Given the description of an element on the screen output the (x, y) to click on. 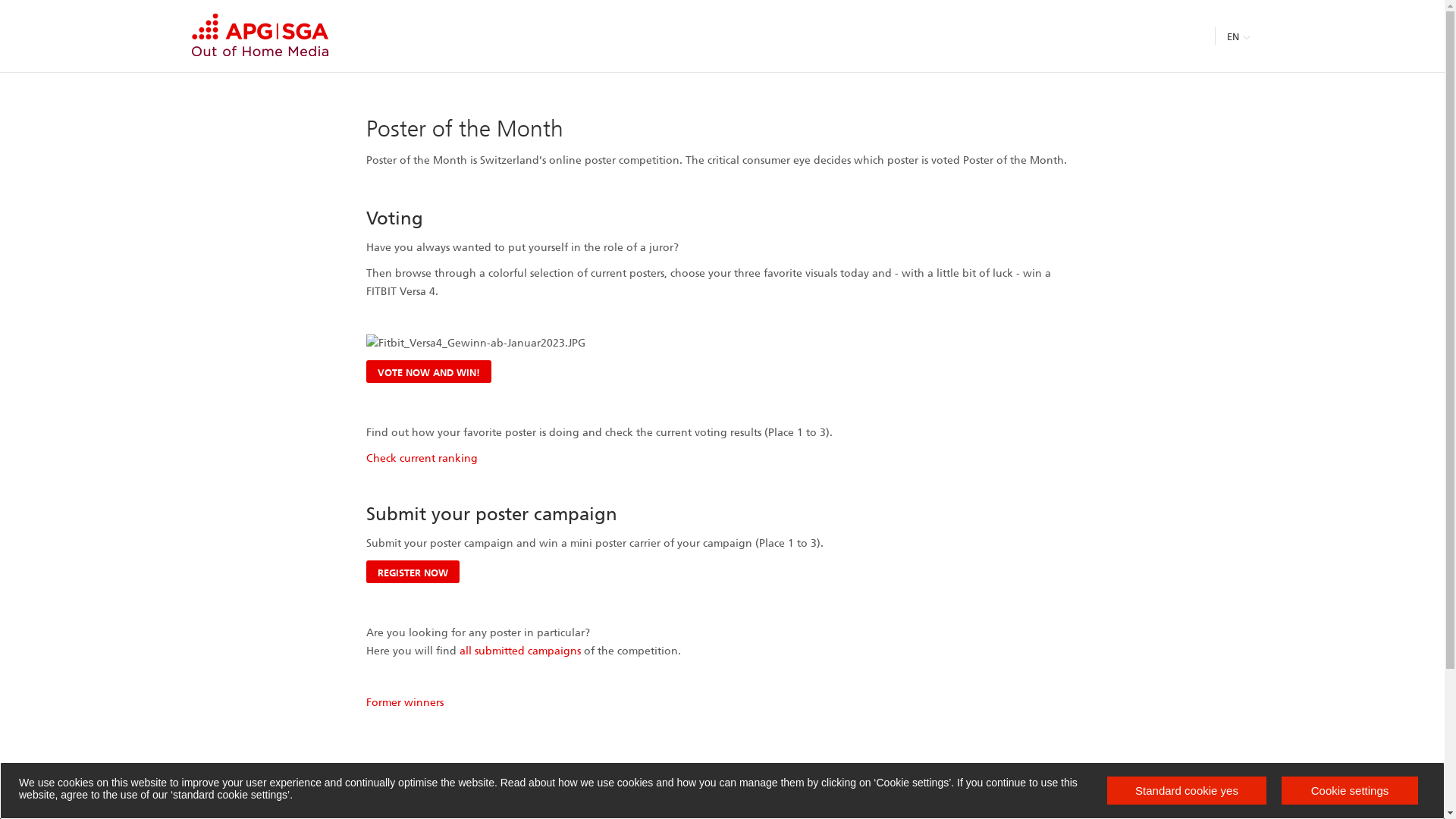
EN Element type: text (1238, 36)
Standard cookie yes Element type: text (1186, 790)
Cookie settings Element type: text (1349, 790)
VOTE NOW AND WIN! Element type: text (427, 371)
REGISTER NOW Element type: text (411, 571)
Check current ranking Element type: text (420, 457)
all submitted campaigns Element type: text (519, 650)
Former winners Element type: text (403, 702)
